Given the description of an element on the screen output the (x, y) to click on. 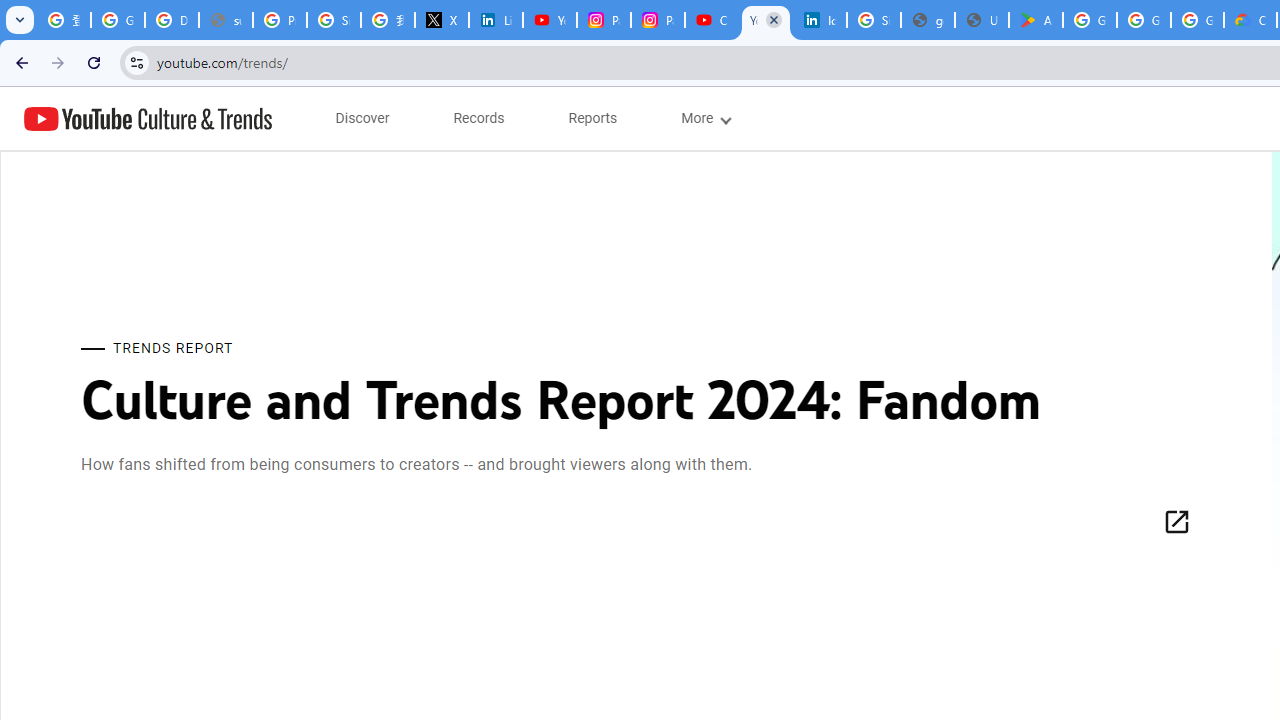
Android Apps on Google Play (1035, 20)
Google Workspace - Specific Terms (1144, 20)
LinkedIn Privacy Policy (495, 20)
subnav-Discover menupopup (362, 118)
subnav-Records menupopup (479, 118)
subnav-Records menupopup (479, 118)
X (441, 20)
support.google.com - Network error (225, 20)
